Given the description of an element on the screen output the (x, y) to click on. 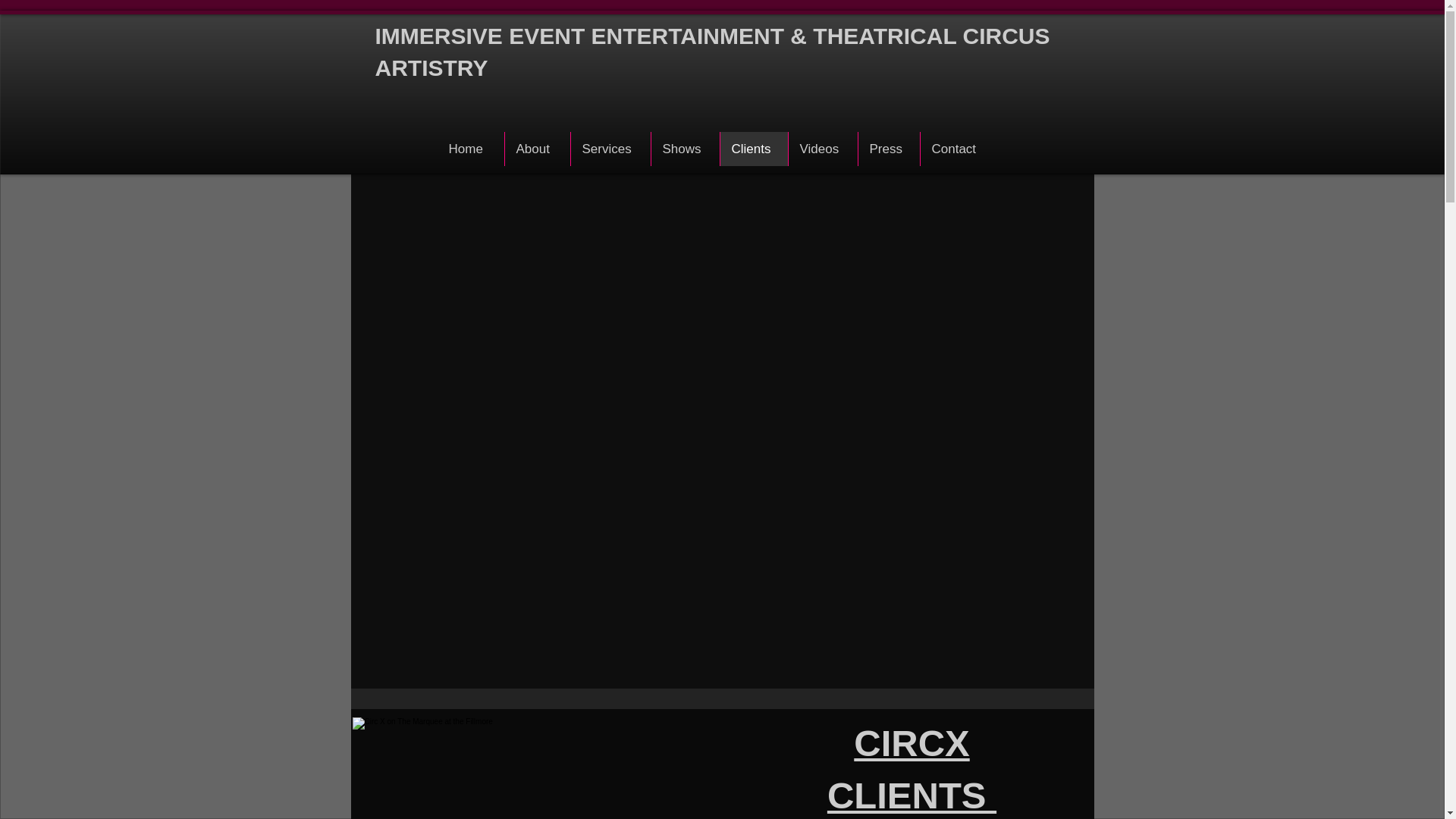
Clients (753, 148)
Home (469, 148)
Services (610, 148)
Shows (684, 148)
About (536, 148)
